Given the description of an element on the screen output the (x, y) to click on. 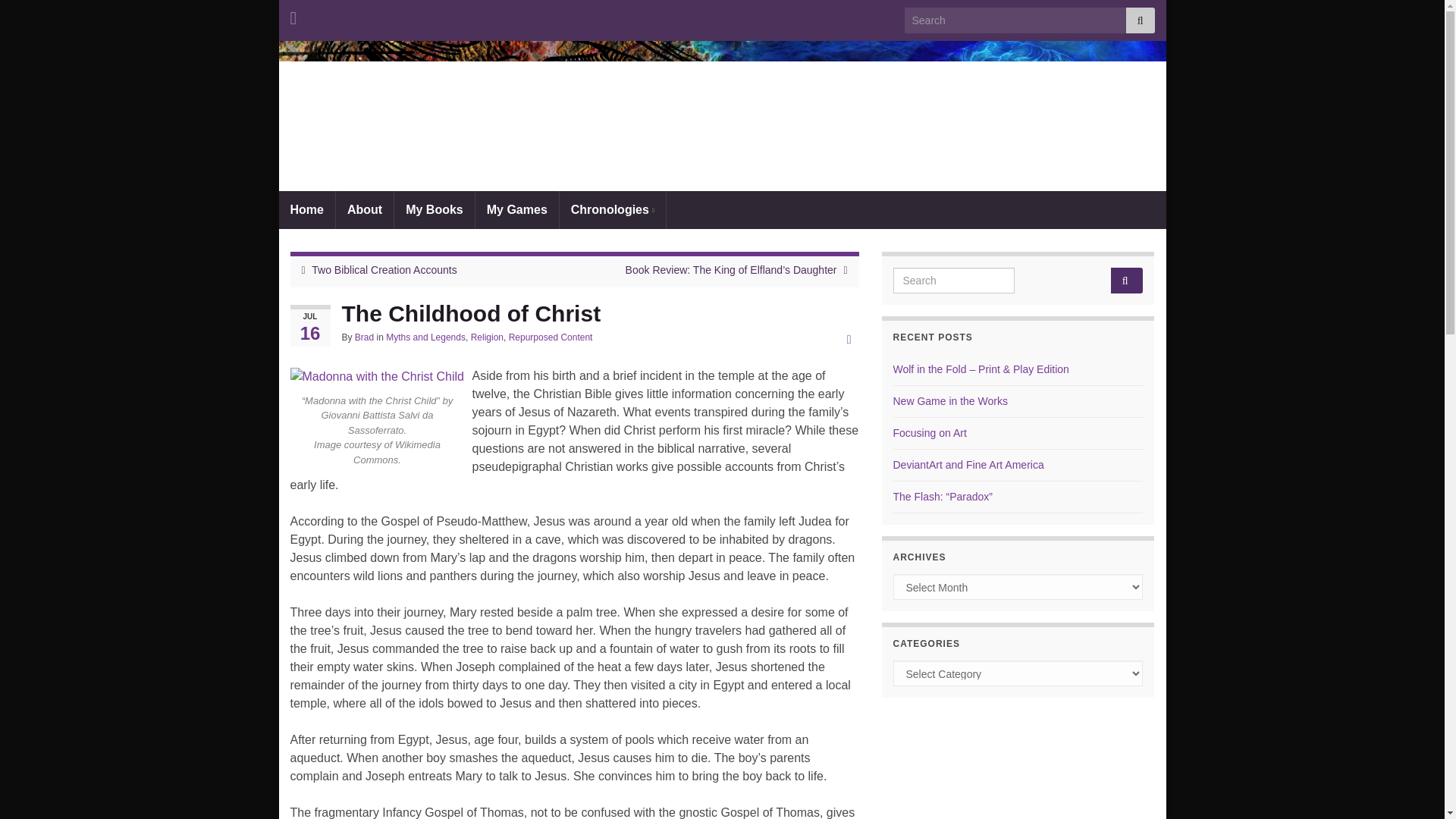
Myths and Legends (425, 337)
Brad (364, 337)
My Books (434, 209)
Religion (486, 337)
cropped-BrainHeader.png (722, 115)
Home (306, 209)
Two Biblical Creation Accounts (384, 269)
My Games (517, 209)
Chronologies (612, 209)
About (364, 209)
